Given the description of an element on the screen output the (x, y) to click on. 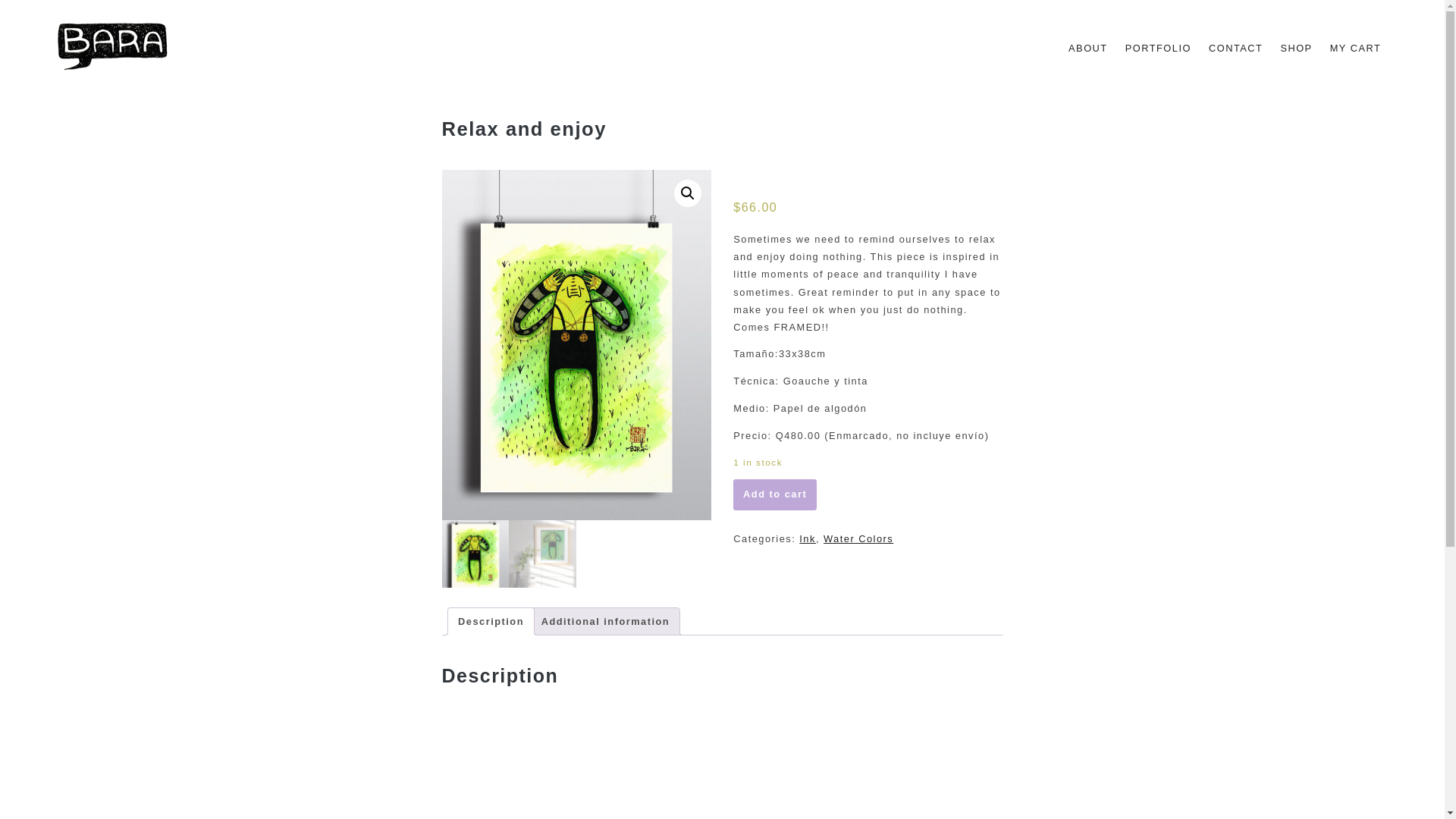
Water Colors (858, 538)
PORTFOLIO (1157, 47)
Ink (807, 538)
CONTACT (1235, 47)
Additional information (605, 621)
Description (491, 621)
MY CART (1355, 47)
Bara :: Bara (98, 83)
Add to cart (774, 495)
ABOUT (1087, 47)
